Given the description of an element on the screen output the (x, y) to click on. 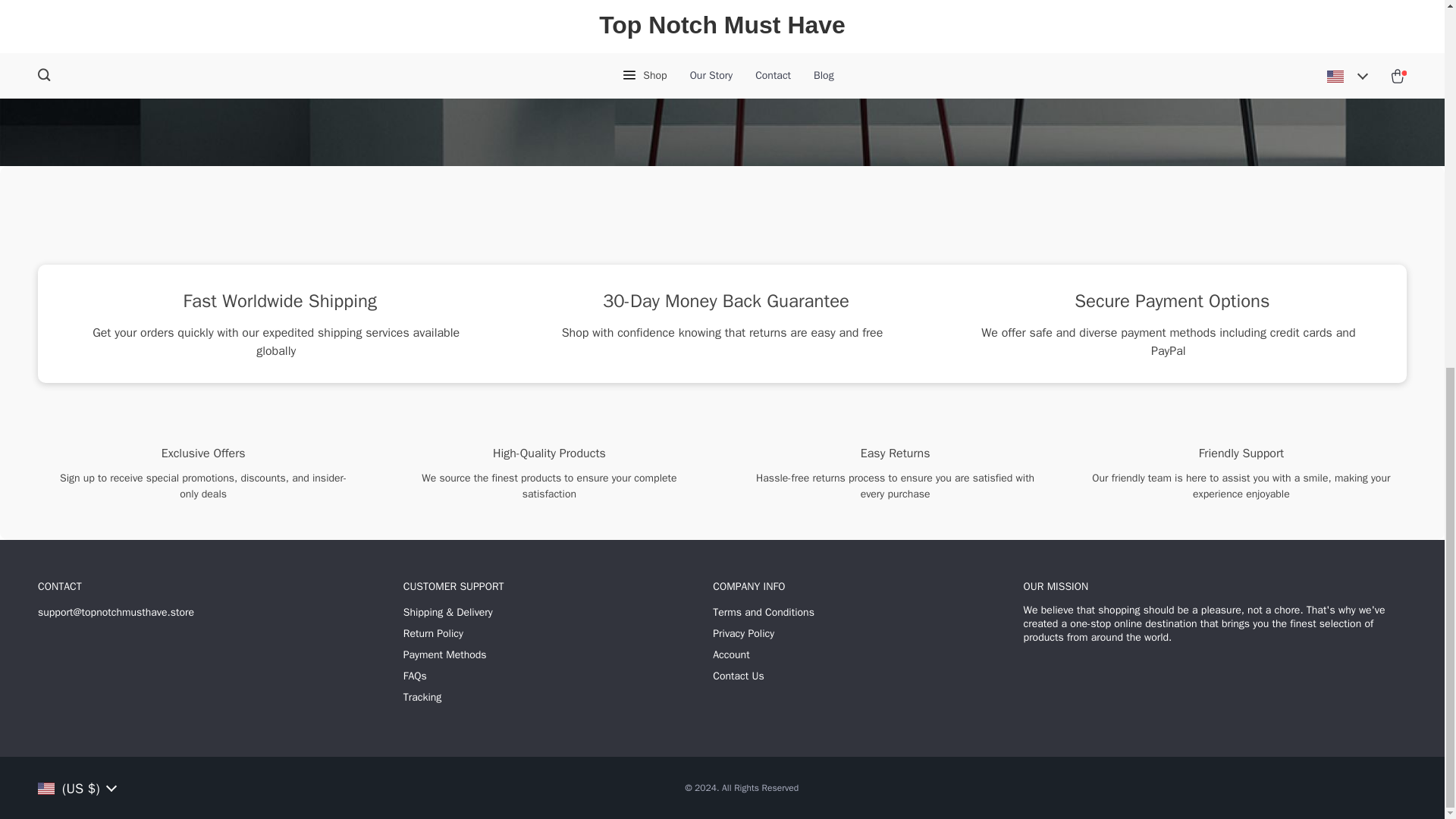
FAQs (414, 676)
Return Policy (433, 633)
Privacy Policy (743, 633)
Account (731, 654)
Terms and Conditions (763, 612)
Contact Us (737, 676)
Payment Methods (444, 654)
Tracking (422, 697)
